Given the description of an element on the screen output the (x, y) to click on. 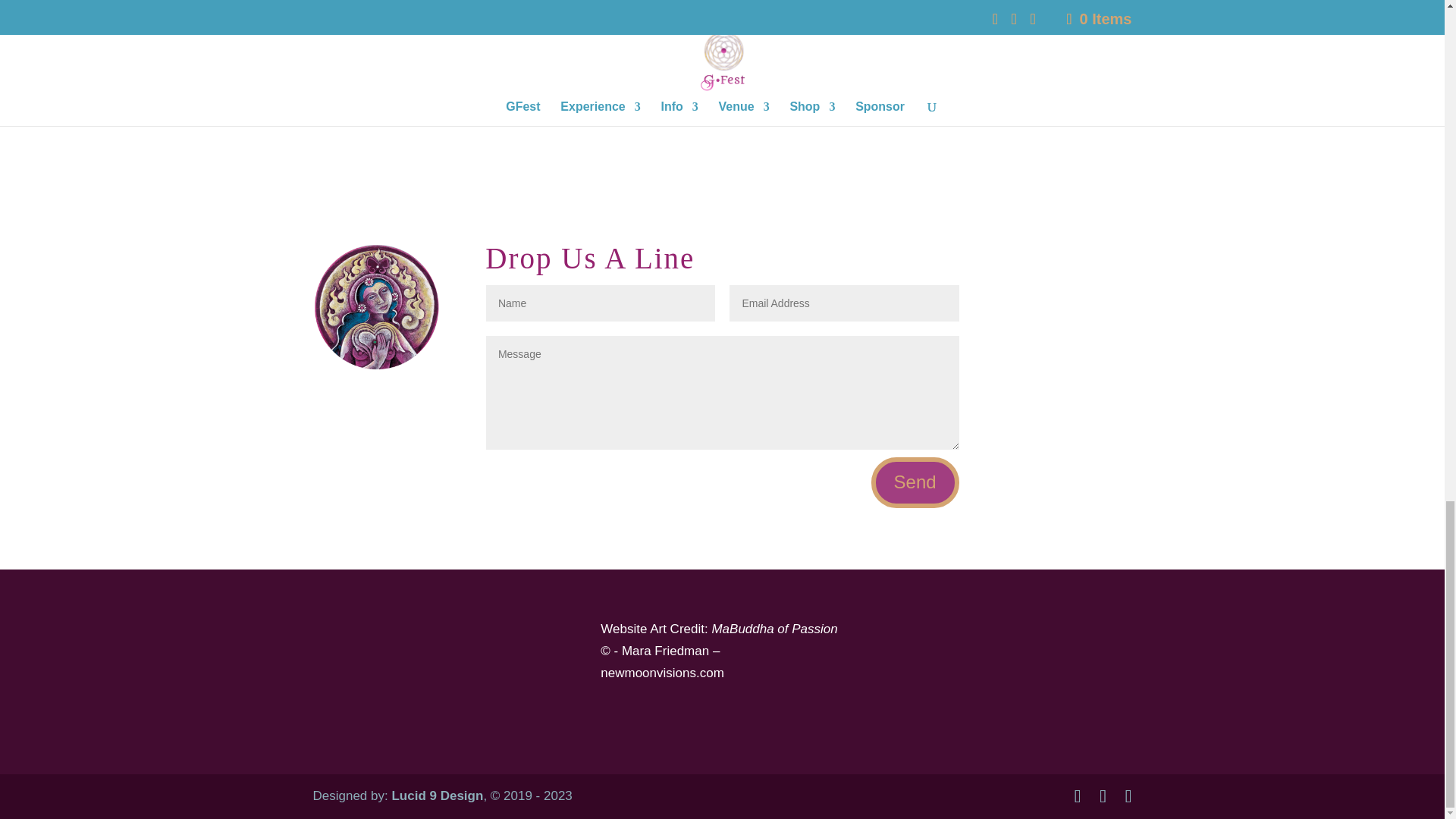
Circle Goddess (376, 307)
newmoonvisions.com (661, 672)
Lucid 9 Design (437, 795)
Send (914, 482)
